Given the description of an element on the screen output the (x, y) to click on. 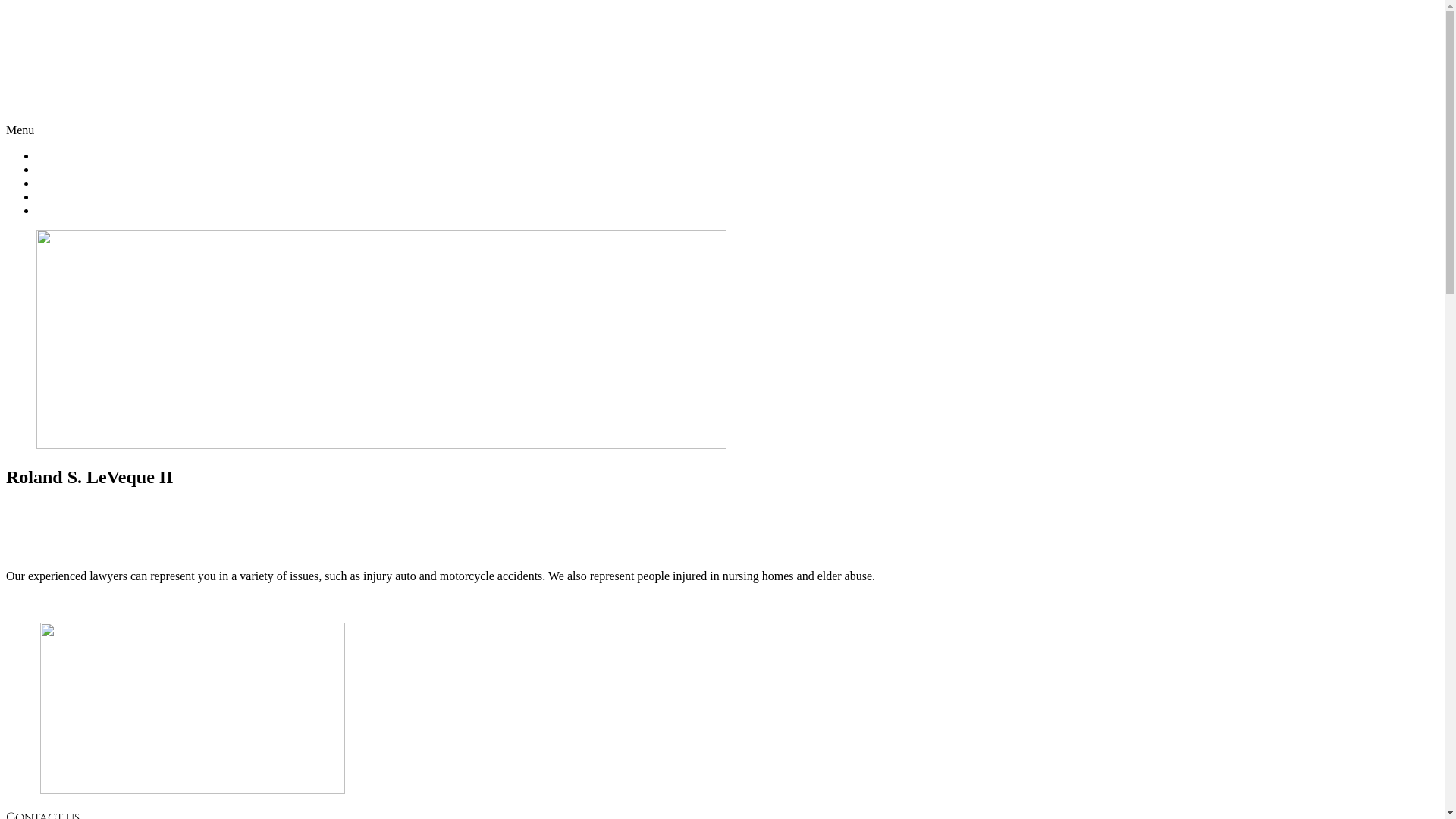
TESTIMONIALS Element type: text (80, 196)
HOME Element type: text (54, 155)
AUTO AND MOTORCYCLE ACCIDENTS Element type: text (145, 169)
(800) 696-4742 Element type: text (721, 98)
ELDER INJURY Element type: text (78, 182)
Menu Element type: text (20, 129)
CONTACT US Element type: text (73, 209)
